Given the description of an element on the screen output the (x, y) to click on. 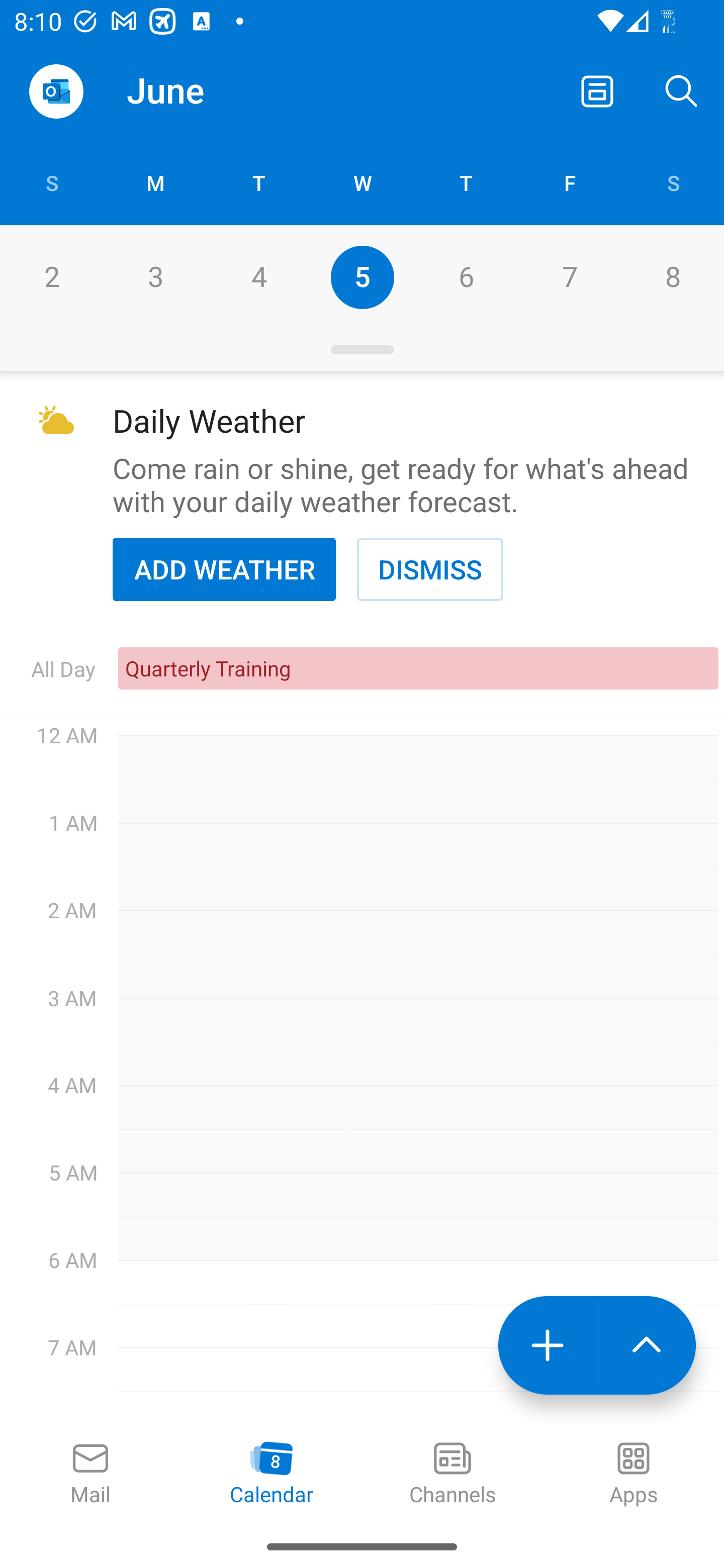
June June 2024, day picker (203, 90)
Switch away from Day view (597, 90)
Search, ,  (681, 90)
Open Navigation Drawer (55, 91)
2 Sunday, June 2 (51, 277)
3 Monday, June 3 (155, 277)
4 Tuesday, June 4 (258, 277)
5 Wednesday, June 5, Selected (362, 277)
6 Thursday, June 6 (465, 277)
7 Friday, June 7 (569, 277)
8 Saturday, June 8 (672, 277)
ADD WEATHER (224, 568)
DISMISS (429, 568)
New event (547, 1344)
launch the extended action menu (646, 1344)
Mail (90, 1474)
Channels (452, 1474)
Apps (633, 1474)
